Given the description of an element on the screen output the (x, y) to click on. 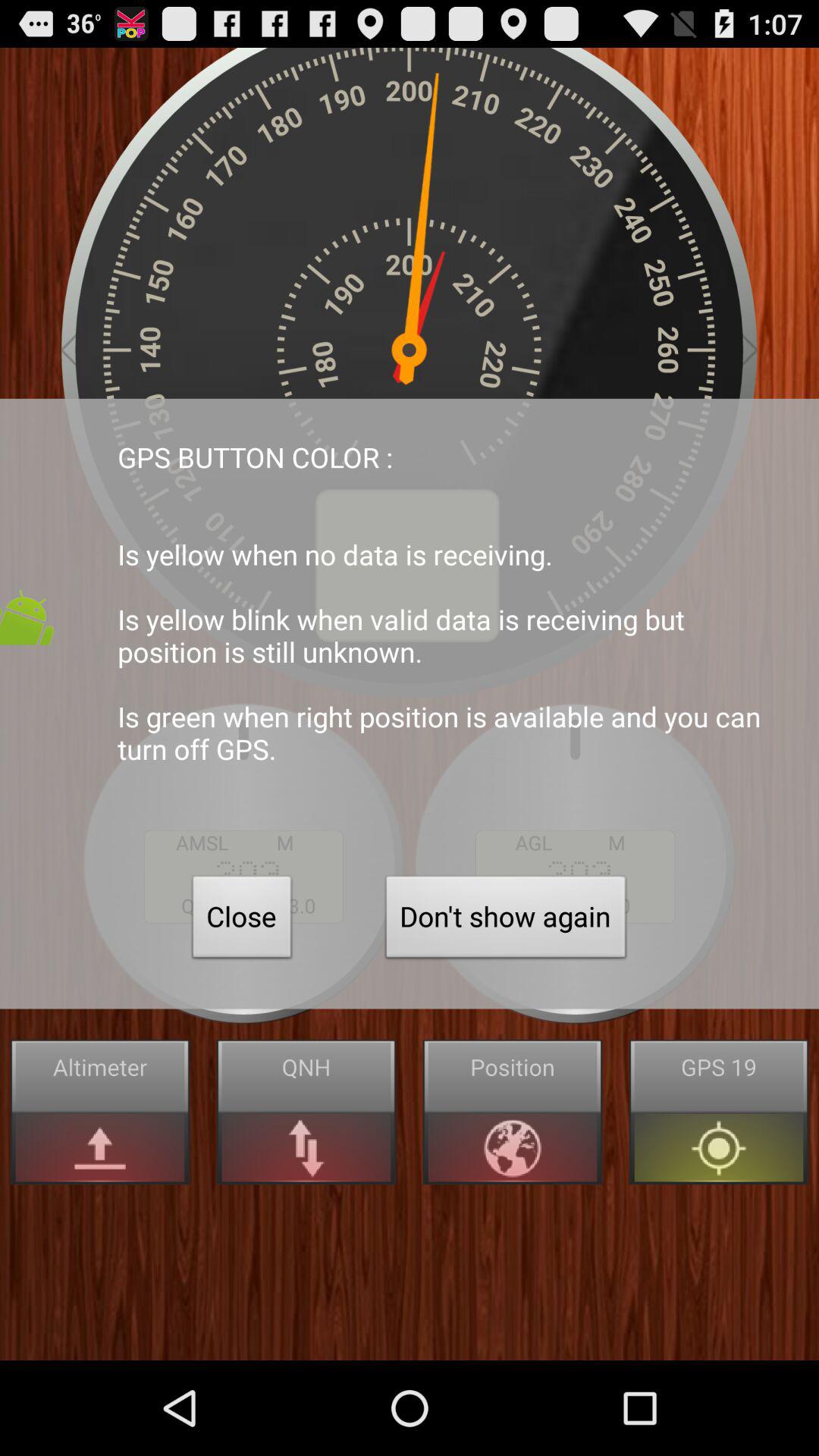
click the don t show button (505, 921)
